Given the description of an element on the screen output the (x, y) to click on. 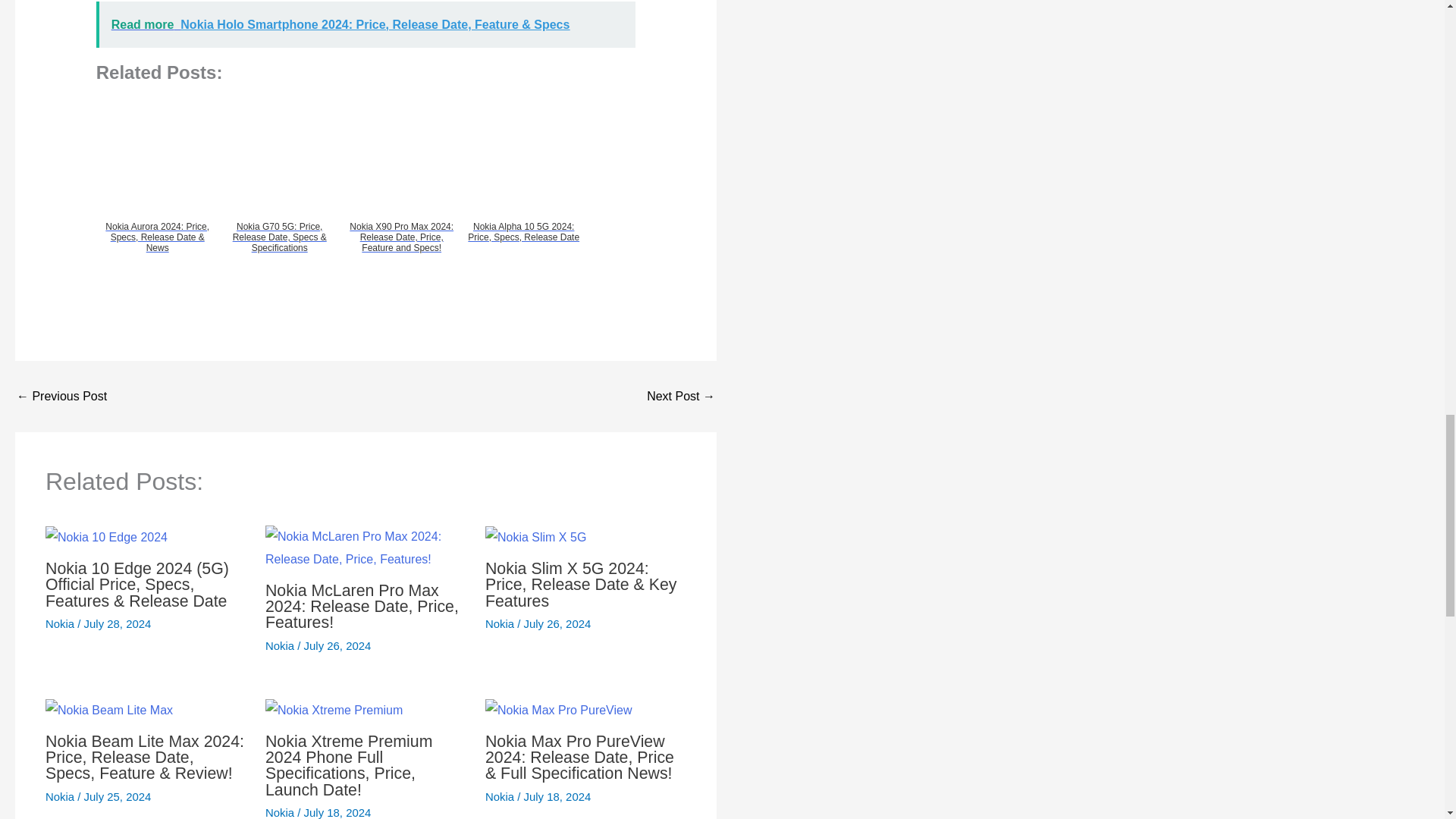
Nokia McLaren Pro Max 2024: Release Date, Price, Features! (361, 606)
Nokia (498, 623)
Nokia Edge Max Lite 2020: Price, Release Date, Full Specs! (61, 396)
Nokia (279, 645)
Nokia (59, 623)
